Given the description of an element on the screen output the (x, y) to click on. 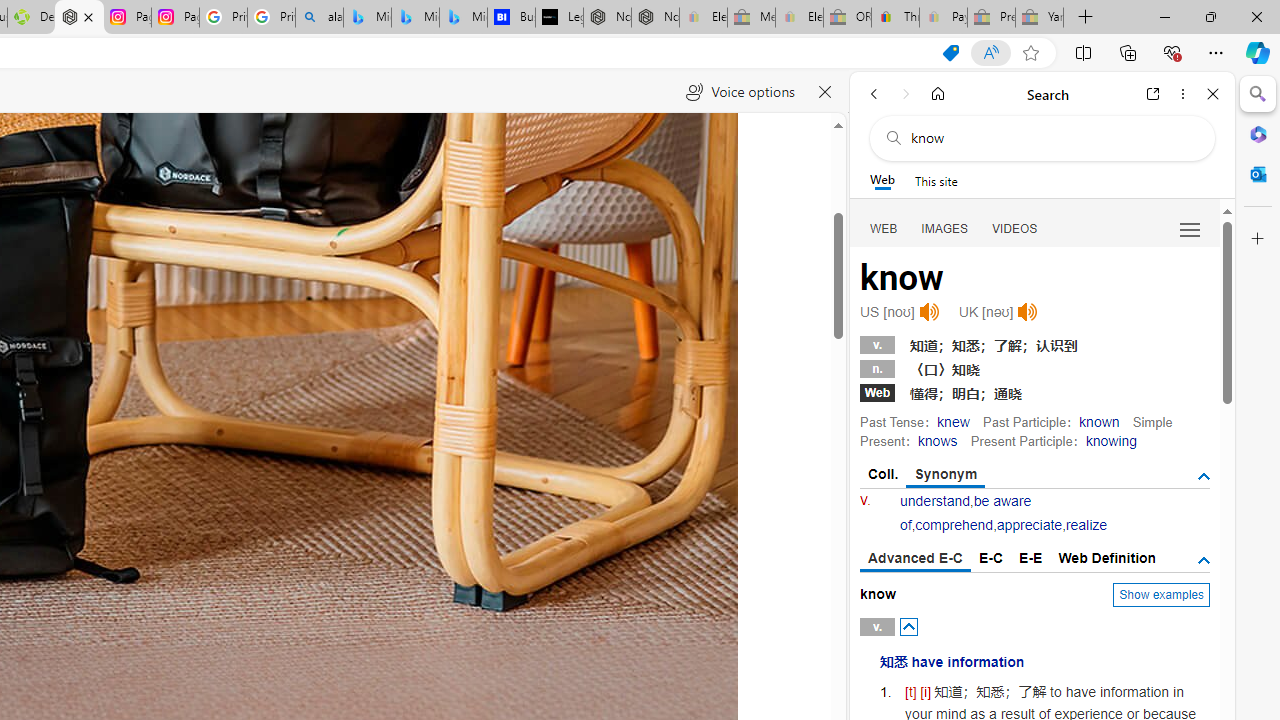
realize (1086, 524)
Click to listen (1027, 312)
AutomationID: posbtn_0 (908, 626)
knows (936, 440)
comprehend (954, 524)
understand (935, 501)
